Given the description of an element on the screen output the (x, y) to click on. 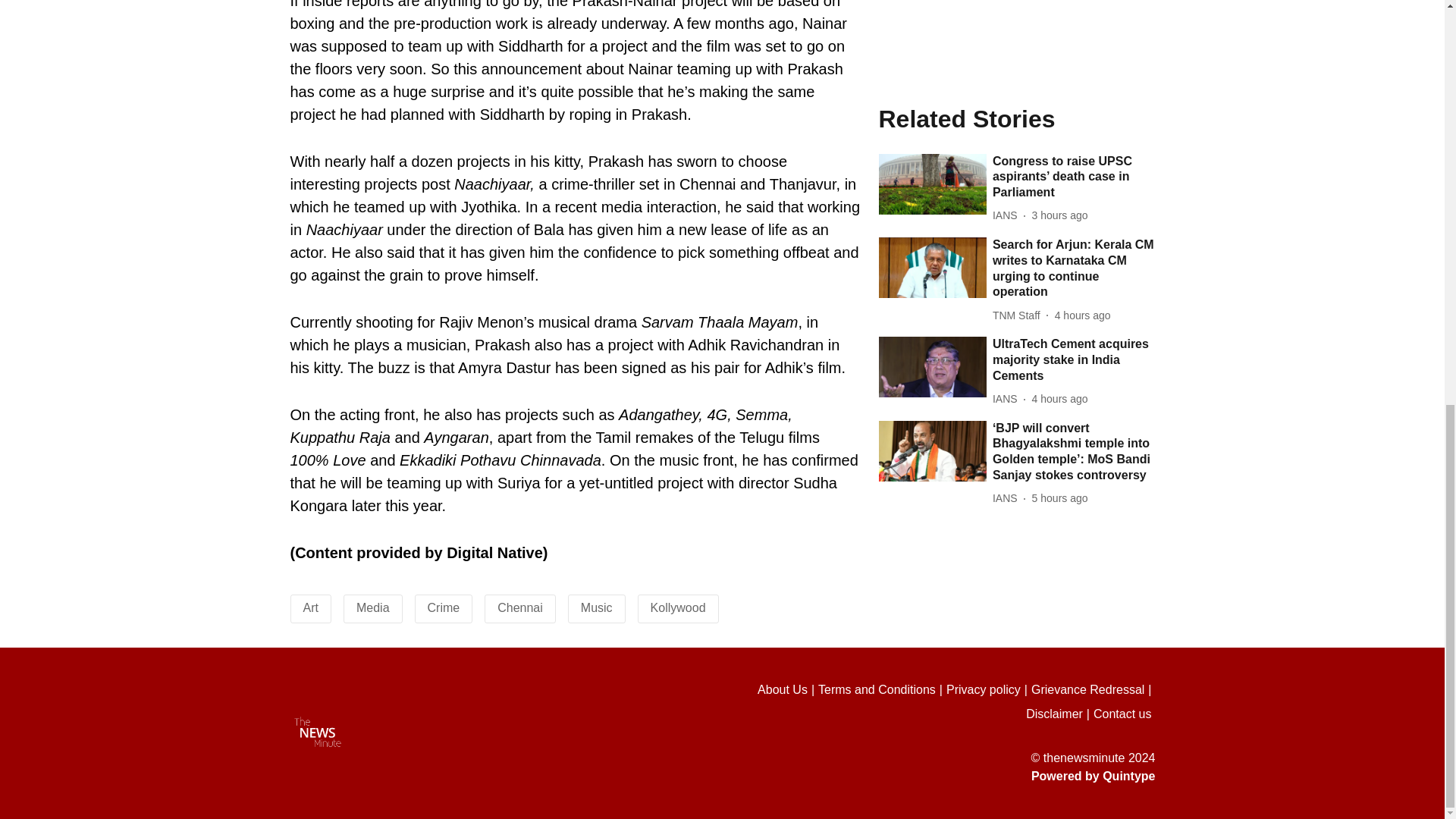
Chennai (520, 607)
Kollywood (678, 607)
Music (596, 607)
Crime (444, 607)
Media (373, 607)
Art (310, 607)
